Given the description of an element on the screen output the (x, y) to click on. 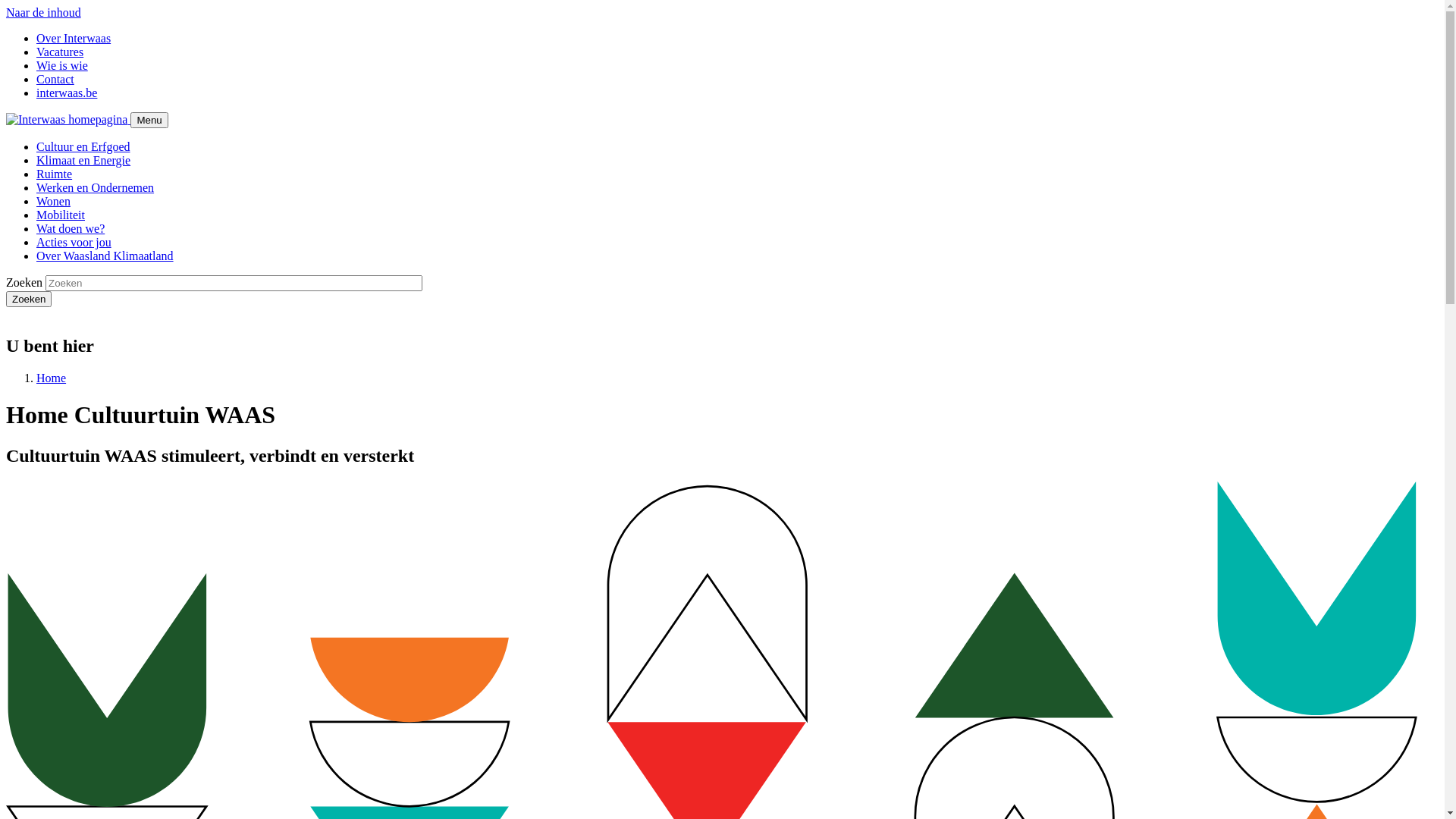
Ga naar de homepage Element type: hover (68, 118)
Cultuur en Erfgoed Element type: text (83, 146)
Mobiliteit Element type: text (60, 214)
Naar de inhoud Element type: text (43, 12)
Over Waasland Klimaatland Element type: text (104, 255)
Contact Element type: text (55, 78)
Acties voor jou Element type: text (73, 241)
Zoeken Element type: text (28, 299)
Ruimte Element type: text (54, 173)
Home Element type: text (50, 377)
Over Interwaas Element type: text (73, 37)
Wonen Element type: text (53, 200)
Wat doen we? Element type: text (70, 228)
Wie is wie Element type: text (61, 65)
Werken en Ondernemen Element type: text (94, 187)
Menu Element type: text (148, 120)
Klimaat en Energie Element type: text (83, 159)
Vacatures Element type: text (59, 51)
interwaas.be Element type: text (66, 92)
